Given the description of an element on the screen output the (x, y) to click on. 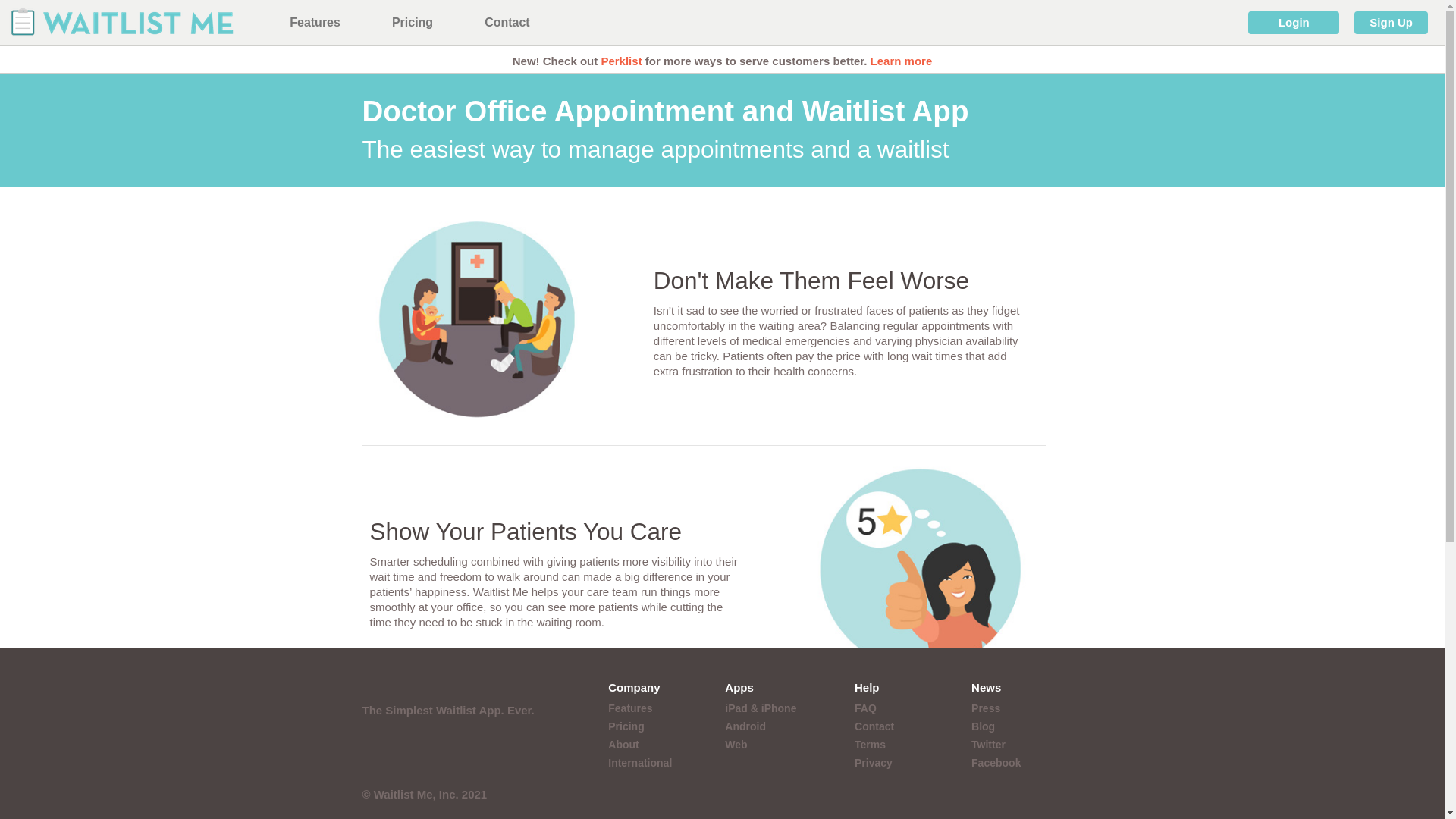
International (639, 762)
Sign Up (1391, 22)
Web (735, 744)
About (623, 744)
Twitter (988, 744)
Perklist (620, 60)
Facebook (995, 762)
Press (985, 707)
Contact (873, 726)
Login (1293, 22)
Android (745, 726)
Contact (506, 22)
Learn more (901, 60)
Features (630, 707)
Pricing (411, 22)
